Given the description of an element on the screen output the (x, y) to click on. 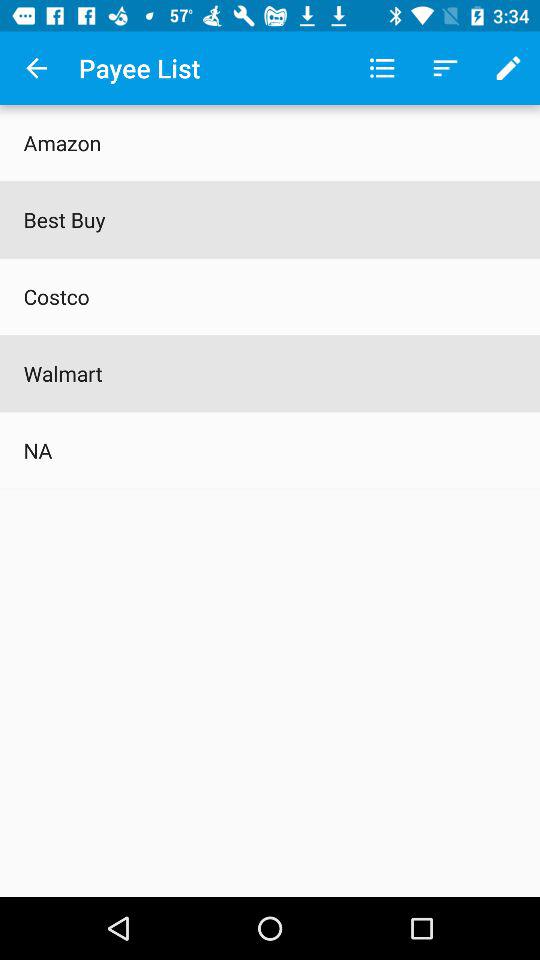
turn on the app next to the payee list item (381, 67)
